Given the description of an element on the screen output the (x, y) to click on. 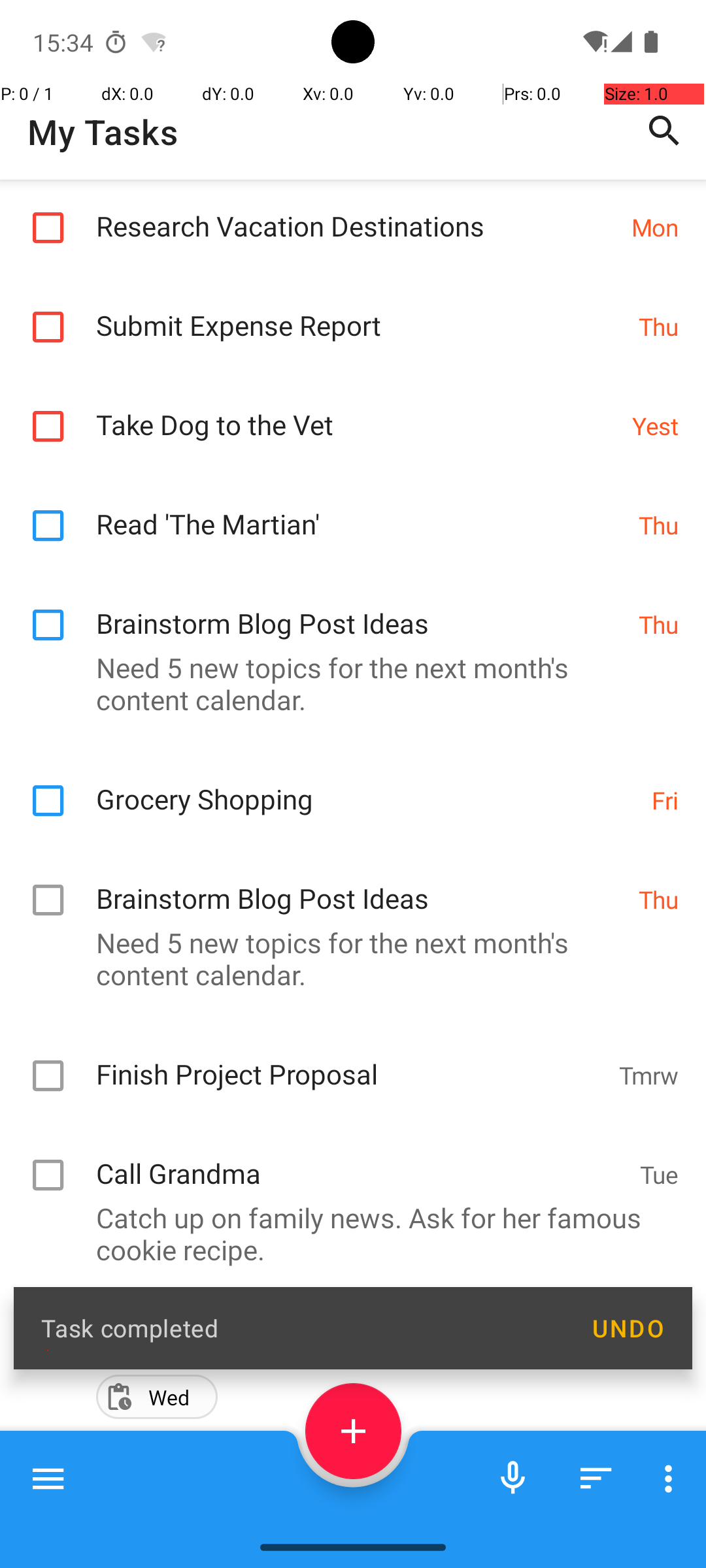
Task completed Element type: android.widget.TextView (302, 1327)
UNDO Element type: android.widget.Button (627, 1328)
